Given the description of an element on the screen output the (x, y) to click on. 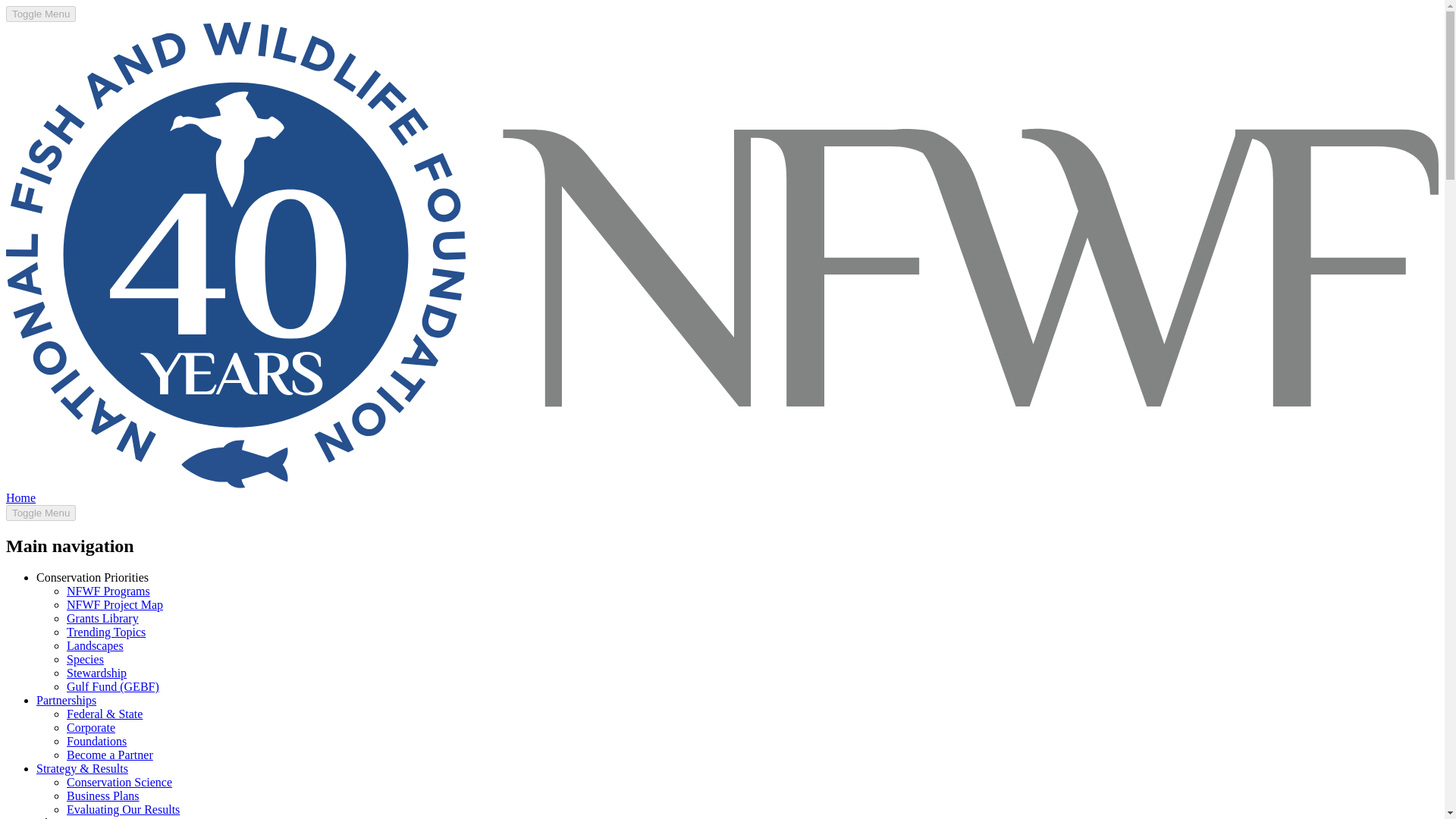
Landscapes (94, 645)
NFWF Programs (107, 590)
Grants Library (102, 617)
Partnerships (66, 699)
Stewardship (96, 672)
Conservation Science (118, 781)
Toggle Menu (40, 13)
Foundations (96, 740)
Species (84, 658)
Trending Topics (105, 631)
NFWF Project Map (114, 604)
Toggle Menu (40, 512)
Become a Partner (109, 754)
Evaluating Our Results (122, 809)
Business Plans (102, 795)
